Given the description of an element on the screen output the (x, y) to click on. 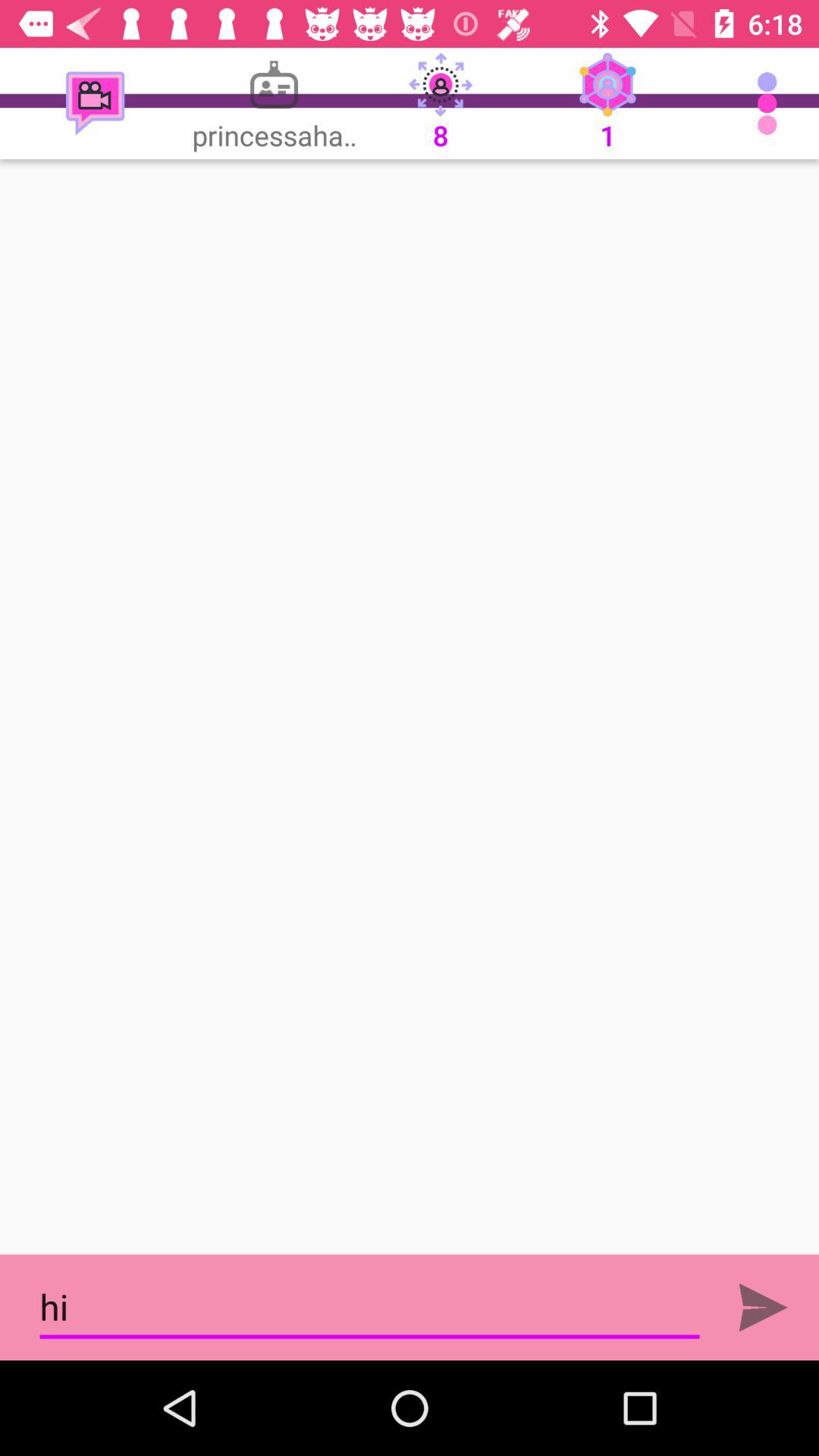
full display (409, 706)
